Given the description of an element on the screen output the (x, y) to click on. 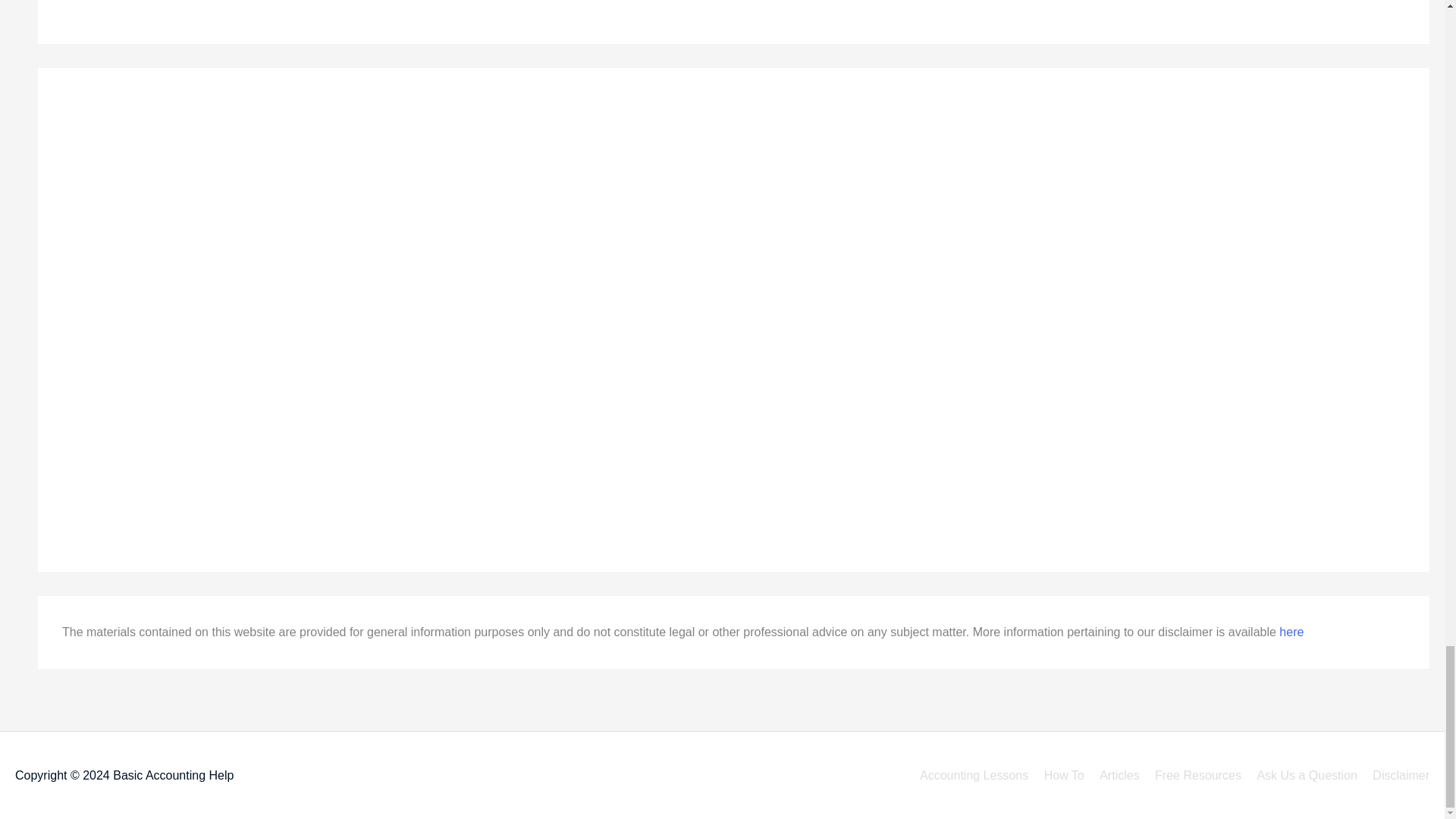
How To (1058, 775)
Articles (1112, 775)
Free Resources (1191, 775)
Disclaimer (1394, 775)
here (1291, 631)
Ask Us a Question (1300, 775)
Accounting Lessons (967, 775)
Advertisement (164, 9)
